Given the description of an element on the screen output the (x, y) to click on. 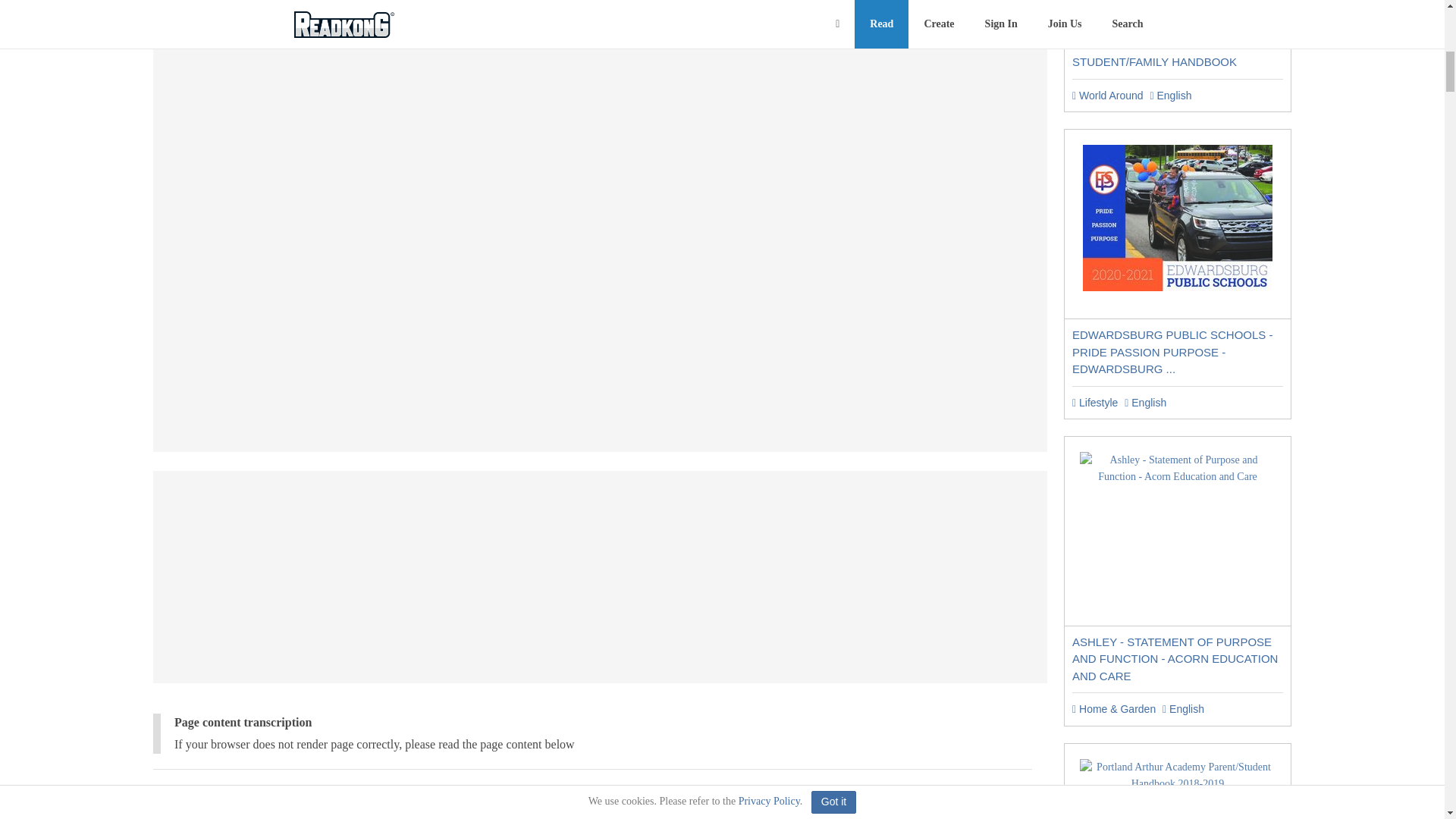
Advertisement (599, 13)
Lifestyle (1094, 402)
World Around (1106, 95)
English (1145, 402)
English (1170, 95)
